Given the description of an element on the screen output the (x, y) to click on. 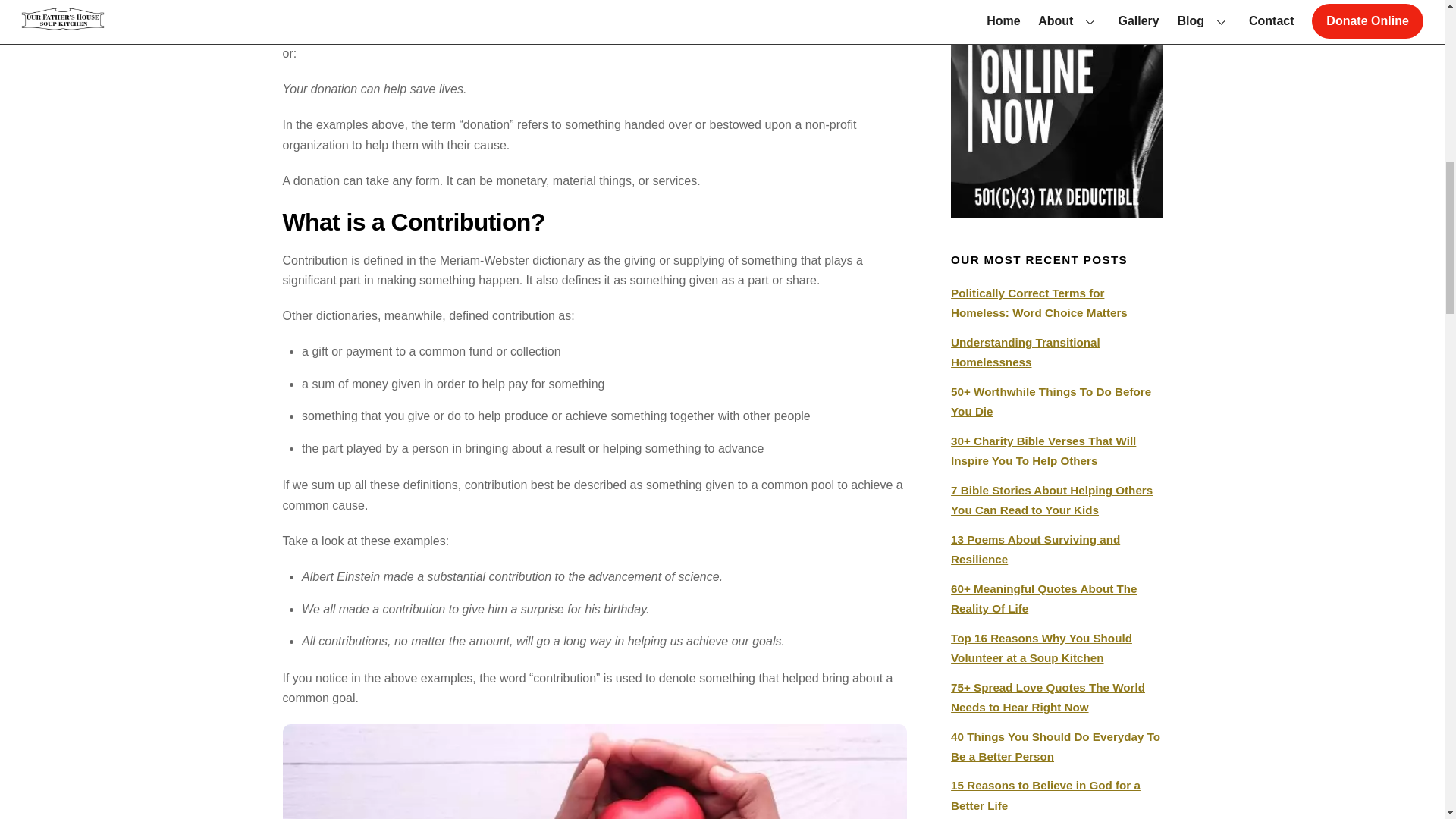
donation vs. contribution 2 (594, 771)
